Given the description of an element on the screen output the (x, y) to click on. 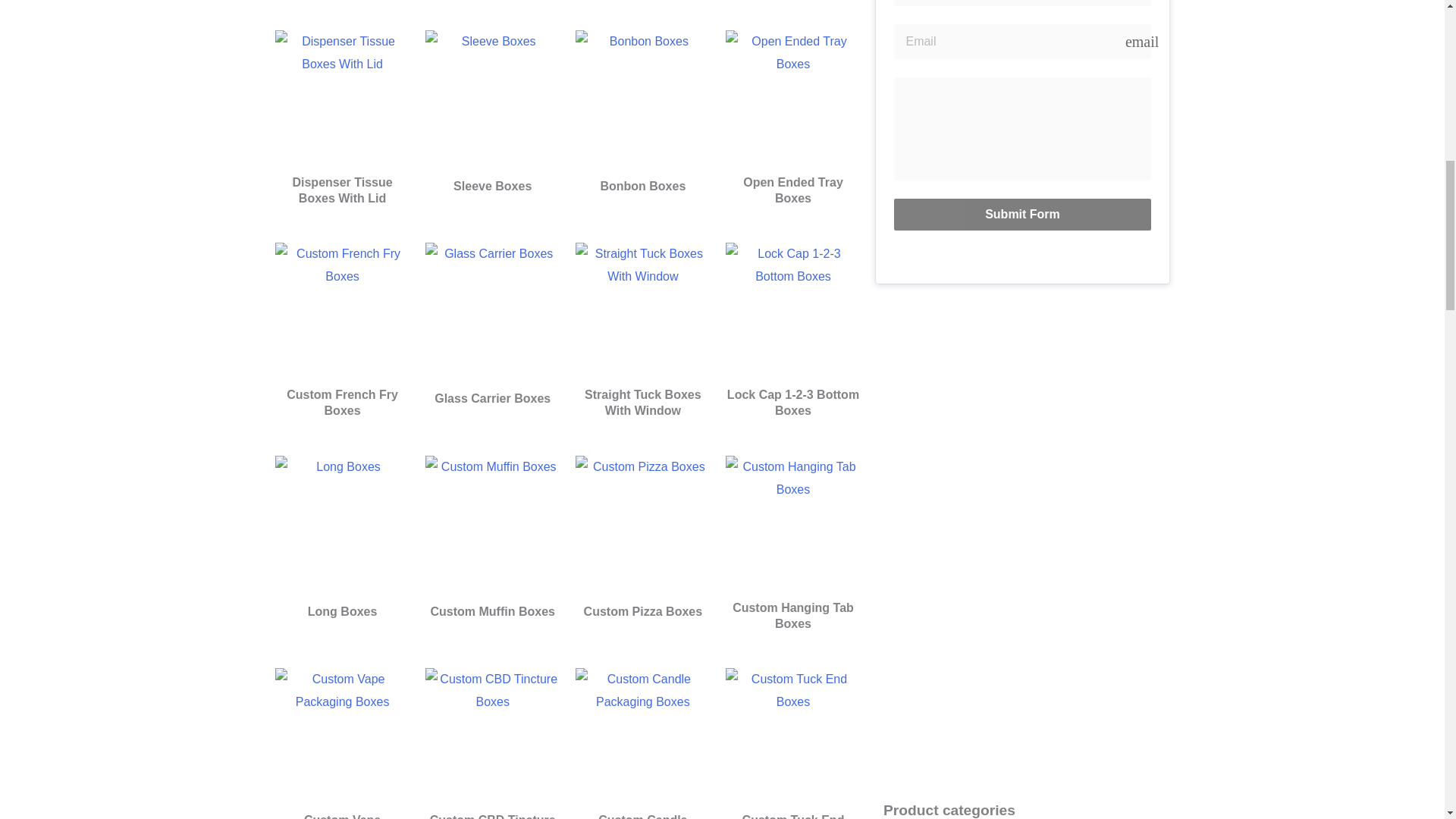
Packaging Boxes Products (342, 97)
Packaging Boxes Products (642, 97)
Packaging Boxes Products (492, 97)
